Given the description of an element on the screen output the (x, y) to click on. 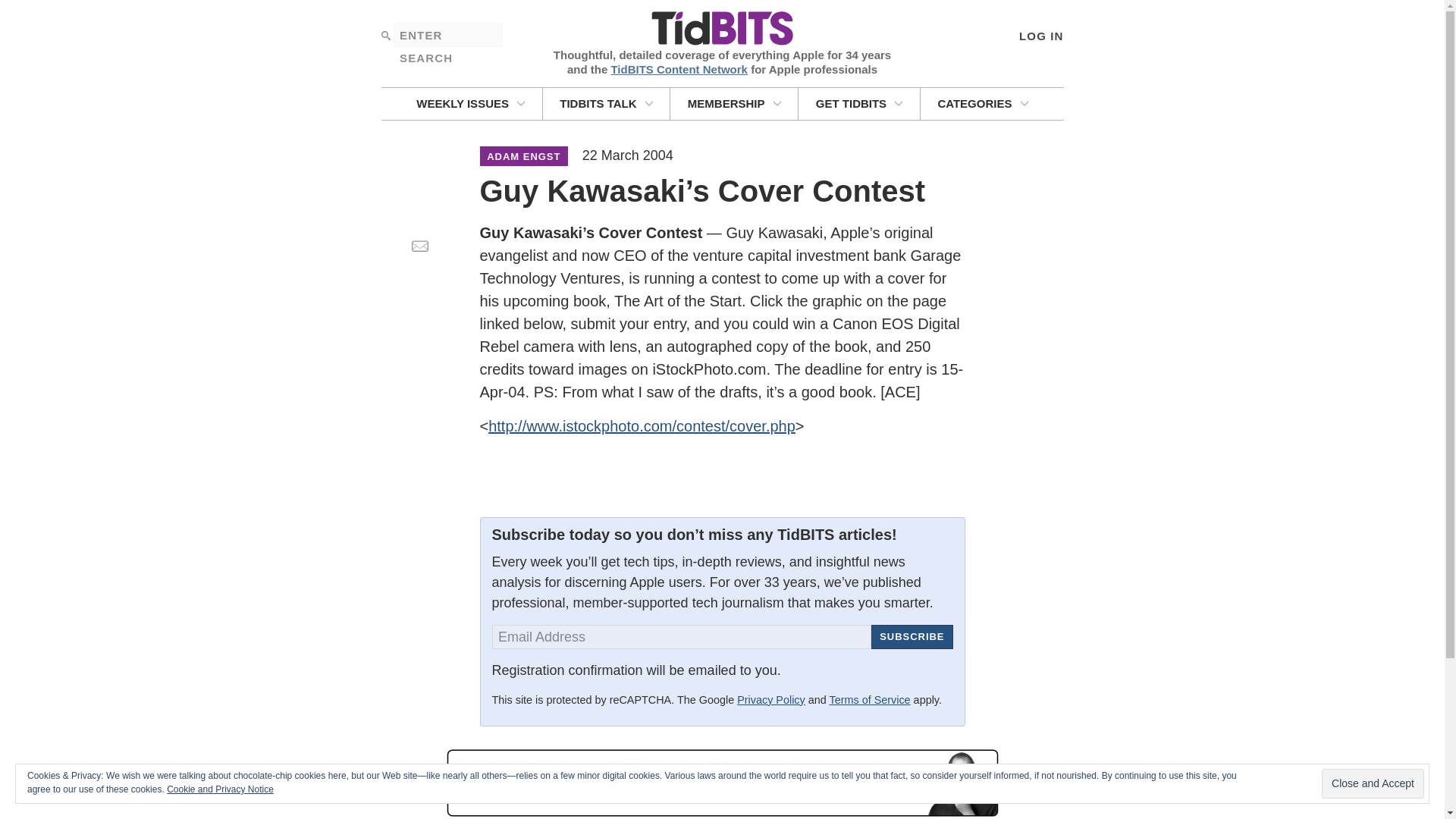
TIDBITS TALK (606, 103)
Search (385, 35)
LOG IN (1040, 34)
TidBITS Content Network (679, 68)
MEMBERSHIP (733, 103)
Close and Accept (1372, 783)
CATEGORIES (982, 103)
TidBITS (721, 28)
GET TIDBITS (858, 103)
Click to email a link to a friend (419, 246)
WEEKLY ISSUES (469, 103)
